Given the description of an element on the screen output the (x, y) to click on. 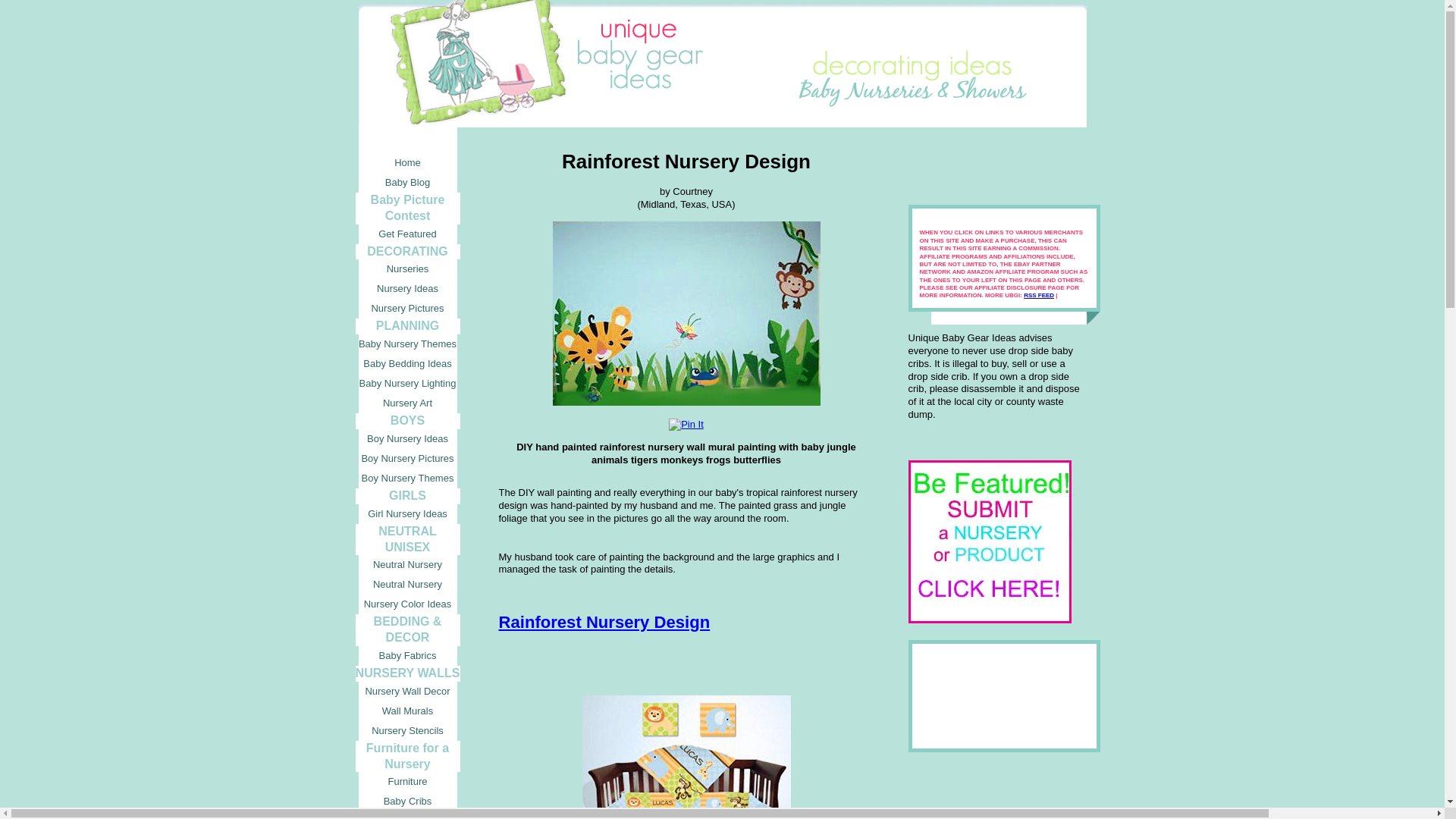
Nursery Pictures (407, 308)
Boy Nursery Themes (407, 478)
Nursery Stencils (407, 731)
Baby Fabrics (407, 655)
Nursery Art (407, 403)
Boy Nursery Ideas (407, 438)
Baby Nursery Lighting (407, 383)
Boy Nursery Pictures (407, 458)
Pin It (685, 424)
Nursery Wall Decor (407, 691)
Rainforest Nursery Design (604, 621)
Nursery Color Ideas (407, 604)
Wall Murals (407, 711)
Nurseries (407, 269)
